Given the description of an element on the screen output the (x, y) to click on. 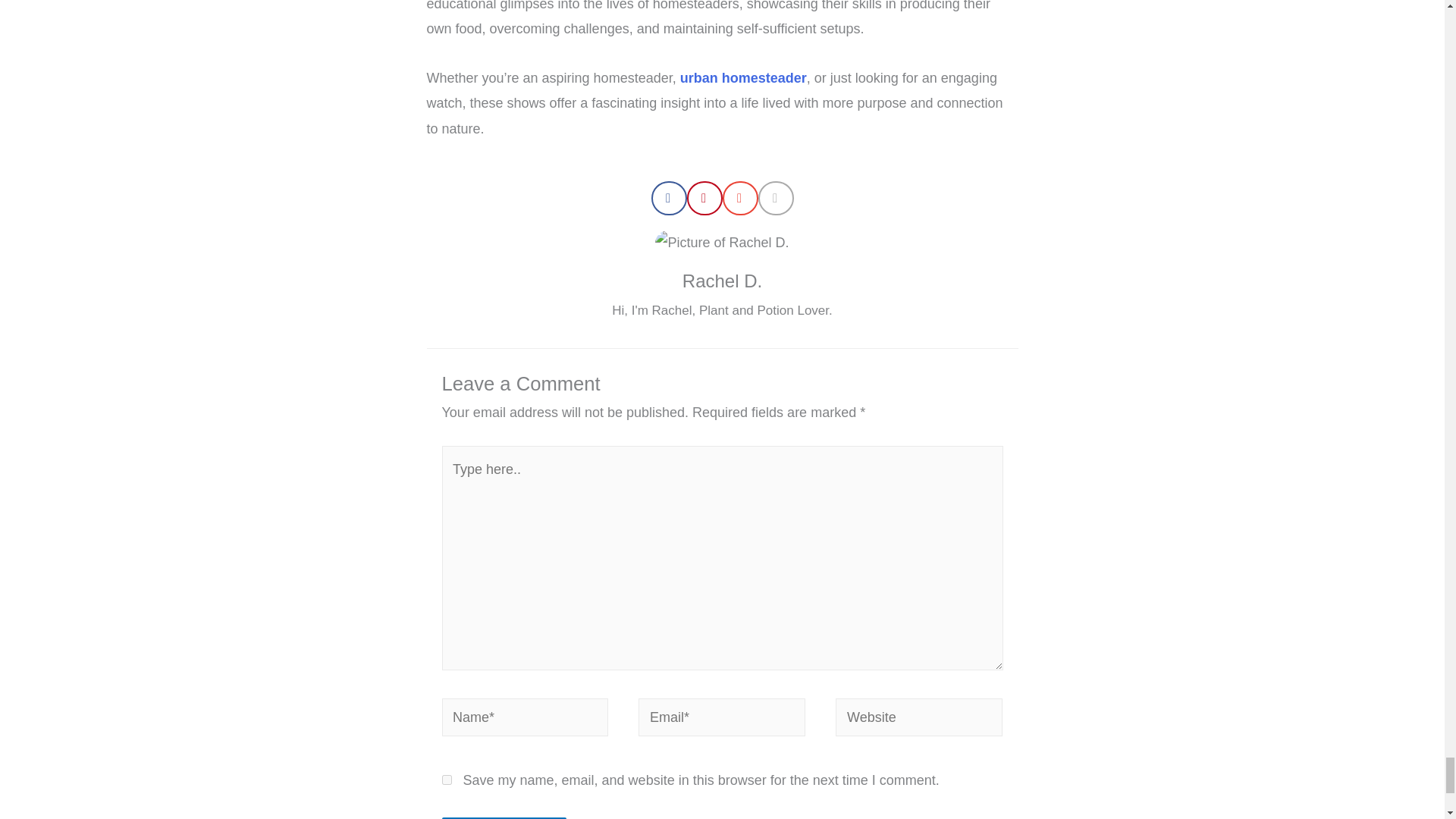
yes (446, 779)
